Given the description of an element on the screen output the (x, y) to click on. 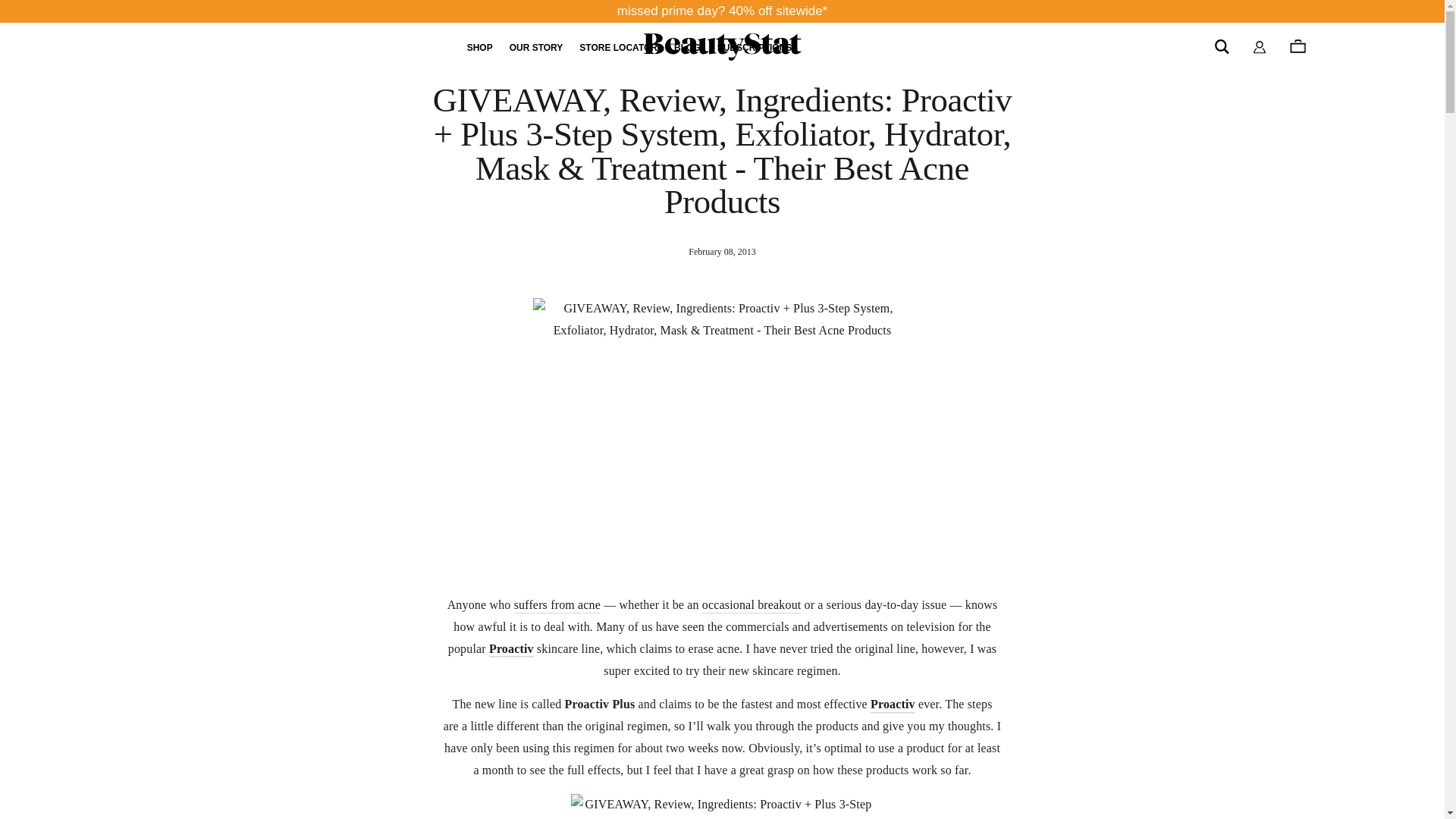
SKIP TO CONTENT (12, 9)
BeautyStat (721, 46)
SHOP (480, 47)
